Given the description of an element on the screen output the (x, y) to click on. 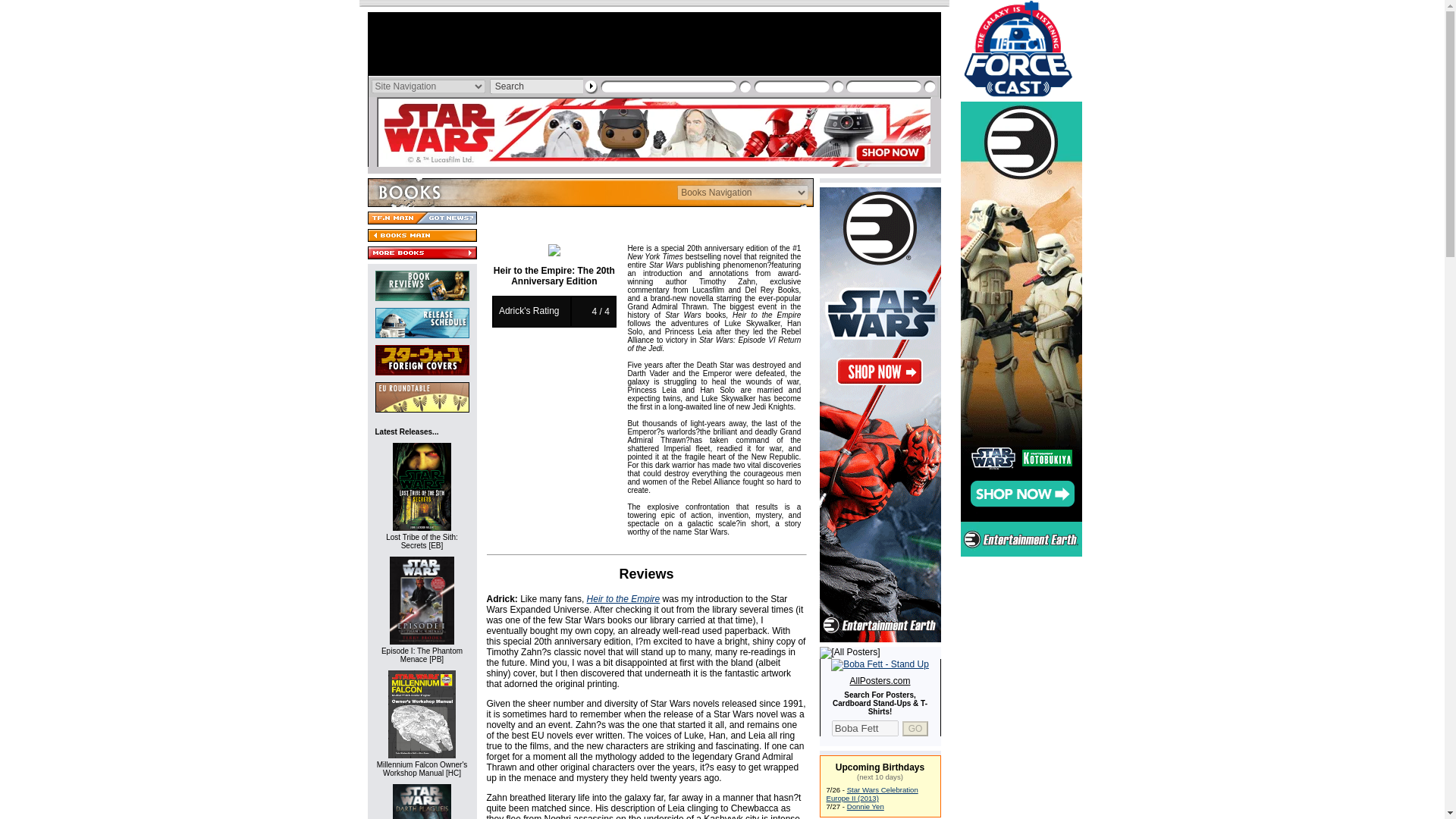
 Search (539, 86)
The Celebration heads to Europe! (872, 793)
Heir to the Empire (623, 598)
GO (915, 727)
Boba Fett (864, 728)
 Search (539, 86)
